Given the description of an element on the screen output the (x, y) to click on. 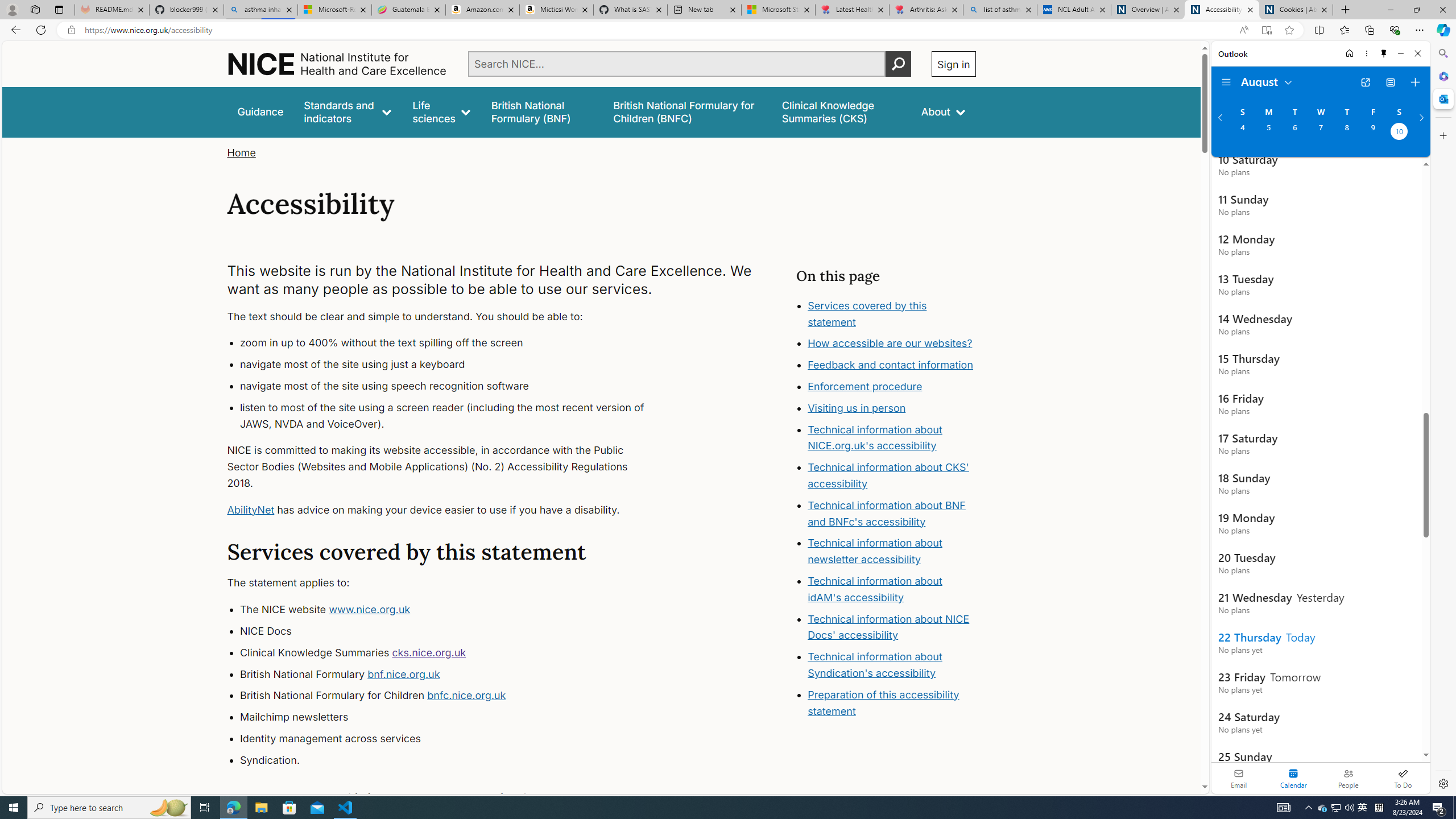
Close Customize pane (1442, 135)
NCL Adult Asthma Inhaler Choice Guideline (1073, 9)
cks.nice.org.uk (428, 652)
Saturday, August 10, 2024. Date selected.  (1399, 132)
August (1267, 80)
AbilityNet (251, 509)
Life sciences (440, 111)
